Given the description of an element on the screen output the (x, y) to click on. 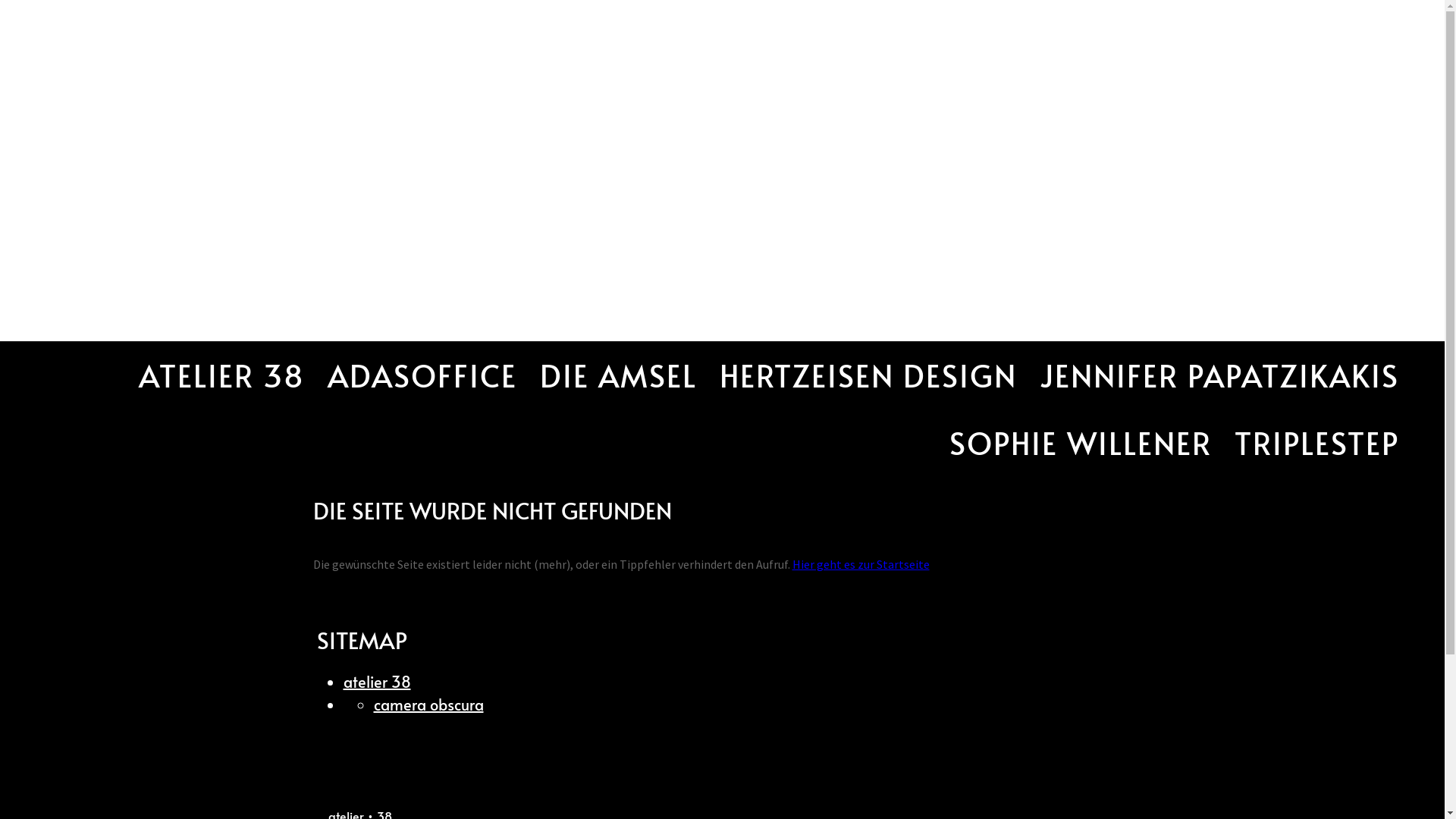
ATELIER 38 Element type: text (221, 374)
DIE AMSEL Element type: text (618, 374)
JENNIFER PAPATZIKAKIS Element type: text (1219, 374)
camera obscura Element type: text (428, 704)
SOPHIE WILLENER Element type: text (1080, 442)
TRIPLESTEP Element type: text (1316, 442)
atelier 38 Element type: text (376, 681)
ADASOFFICE Element type: text (422, 374)
Hier geht es zur Startseite Element type: text (859, 563)
HERTZEISEN DESIGN Element type: text (868, 374)
